Given the description of an element on the screen output the (x, y) to click on. 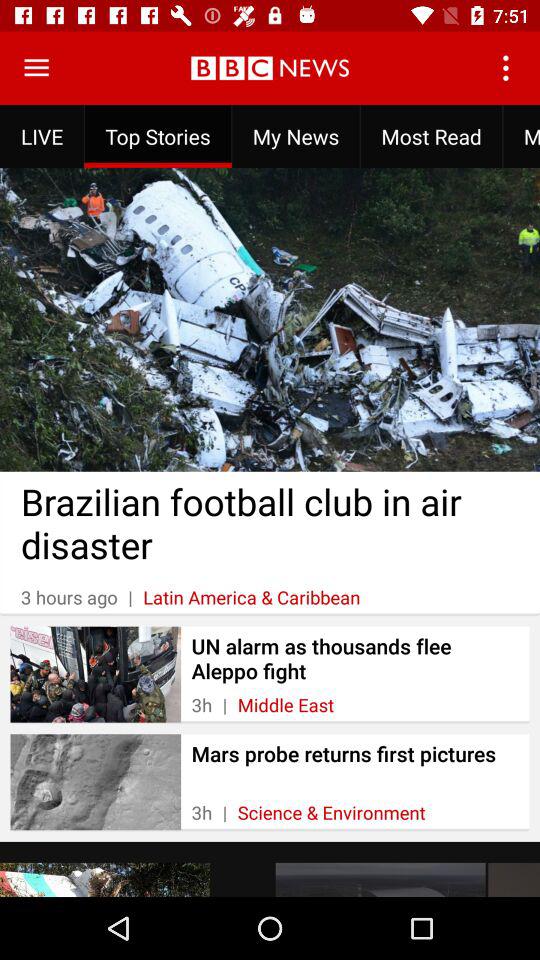
click item next to the top stories item (36, 68)
